Given the description of an element on the screen output the (x, y) to click on. 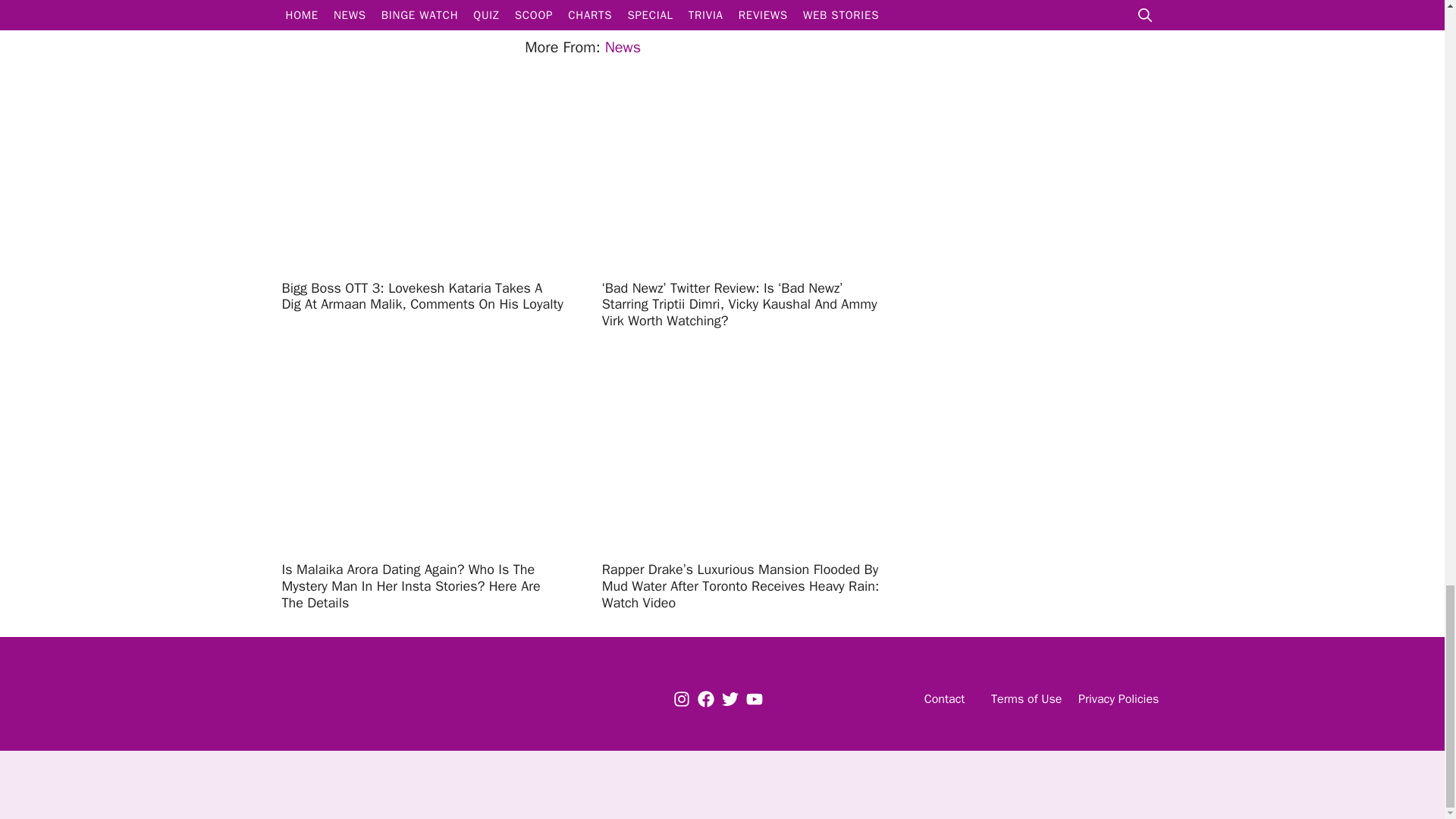
Logo x1 (372, 699)
